Given the description of an element on the screen output the (x, y) to click on. 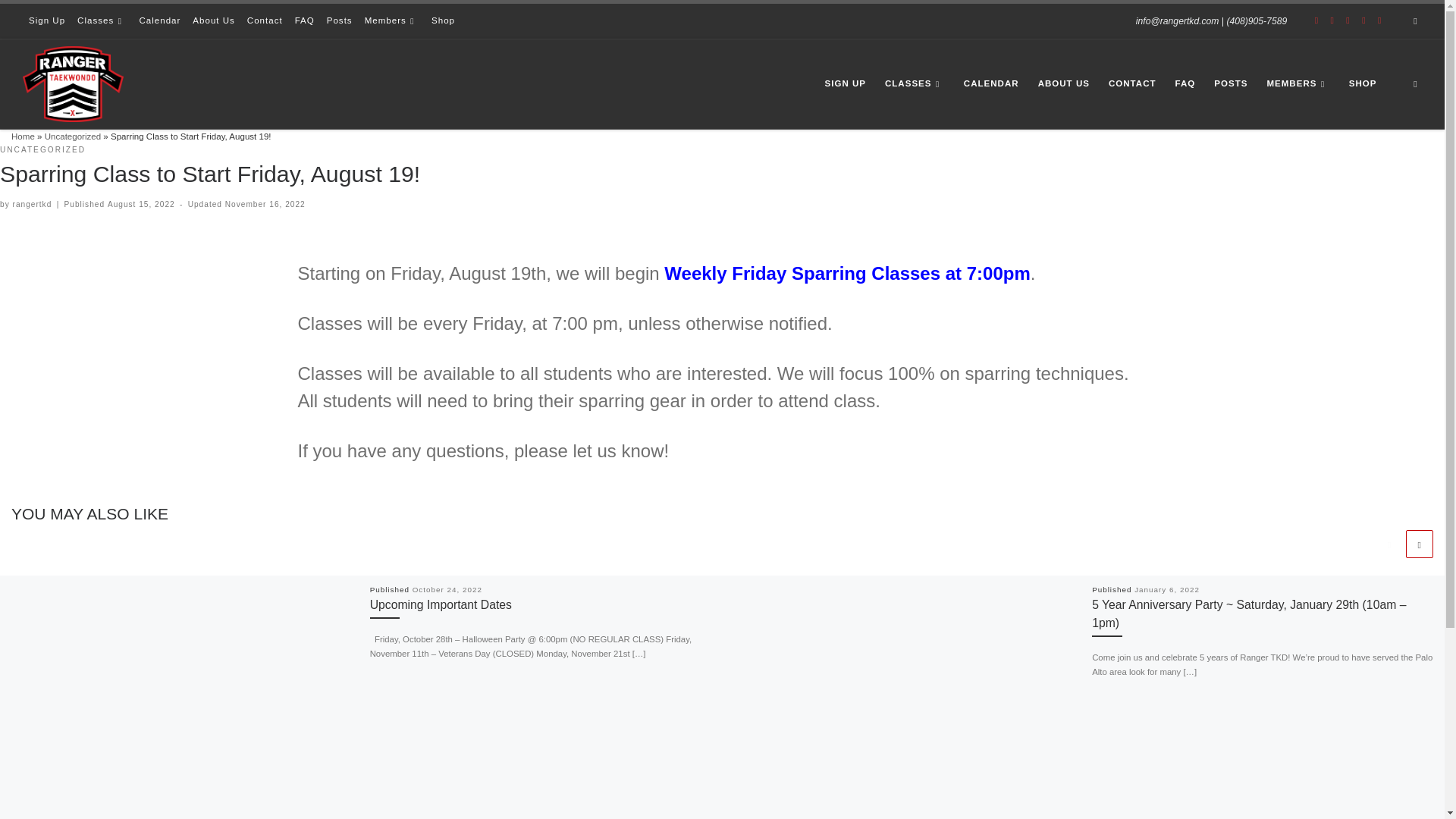
About Us (213, 21)
View all posts in Uncategorized (42, 150)
Calendar (159, 21)
View all posts by rangertkd (32, 203)
POSTS (1230, 83)
Uncategorized (72, 135)
Classes (101, 21)
SIGN UP (844, 83)
CALENDAR (991, 83)
Posts (339, 21)
